Given the description of an element on the screen output the (x, y) to click on. 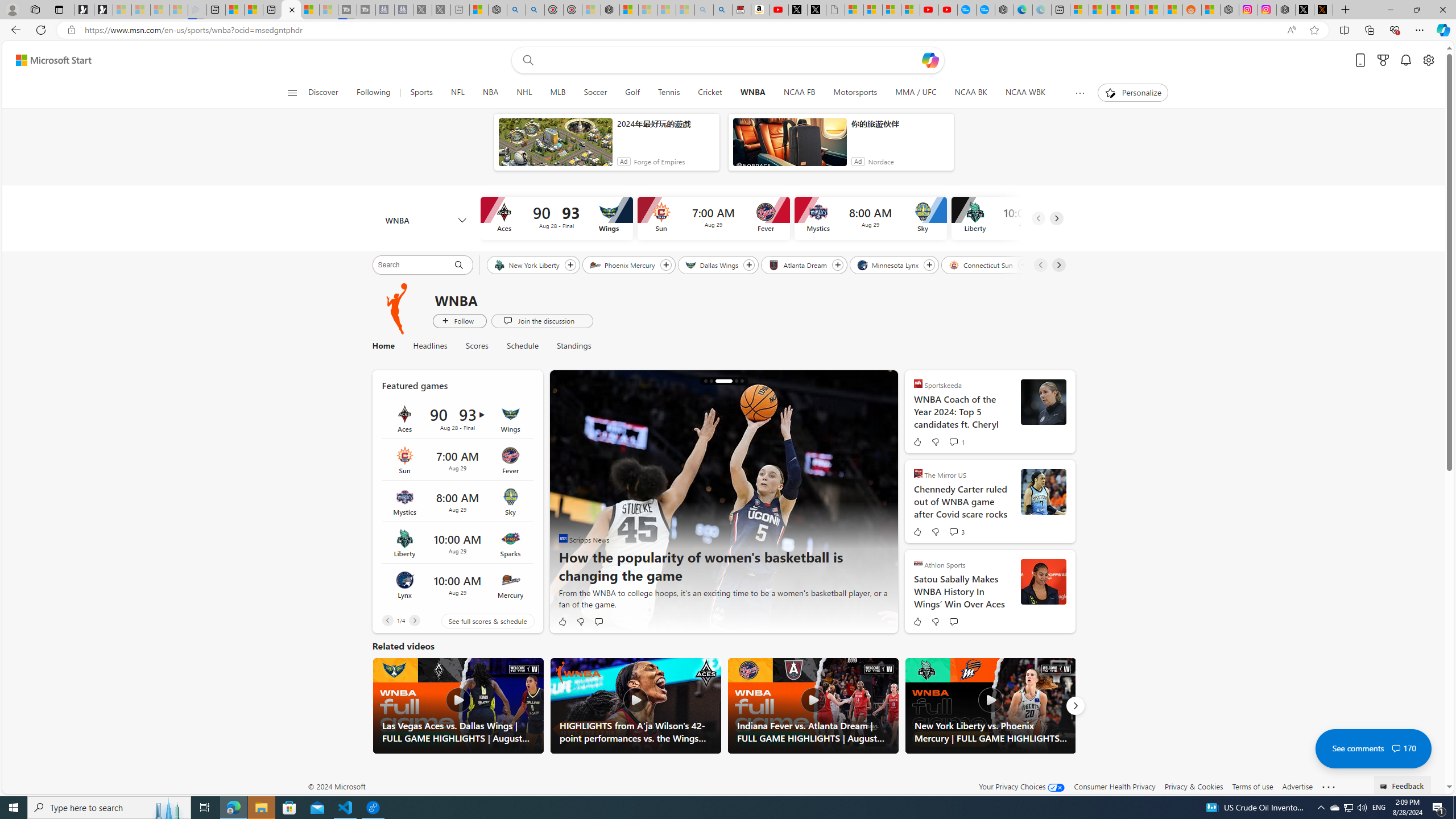
Open settings (1427, 60)
Standings (573, 345)
Consumer Health Privacy (1115, 786)
X - Sleeping (440, 9)
Nordace - Nordace Siena Is Not An Ordinary Backpack (609, 9)
Shanghai, China weather forecast | Microsoft Weather (1098, 9)
Follow Connecticut Sun (1023, 265)
MMA / UFC (915, 92)
